Given the description of an element on the screen output the (x, y) to click on. 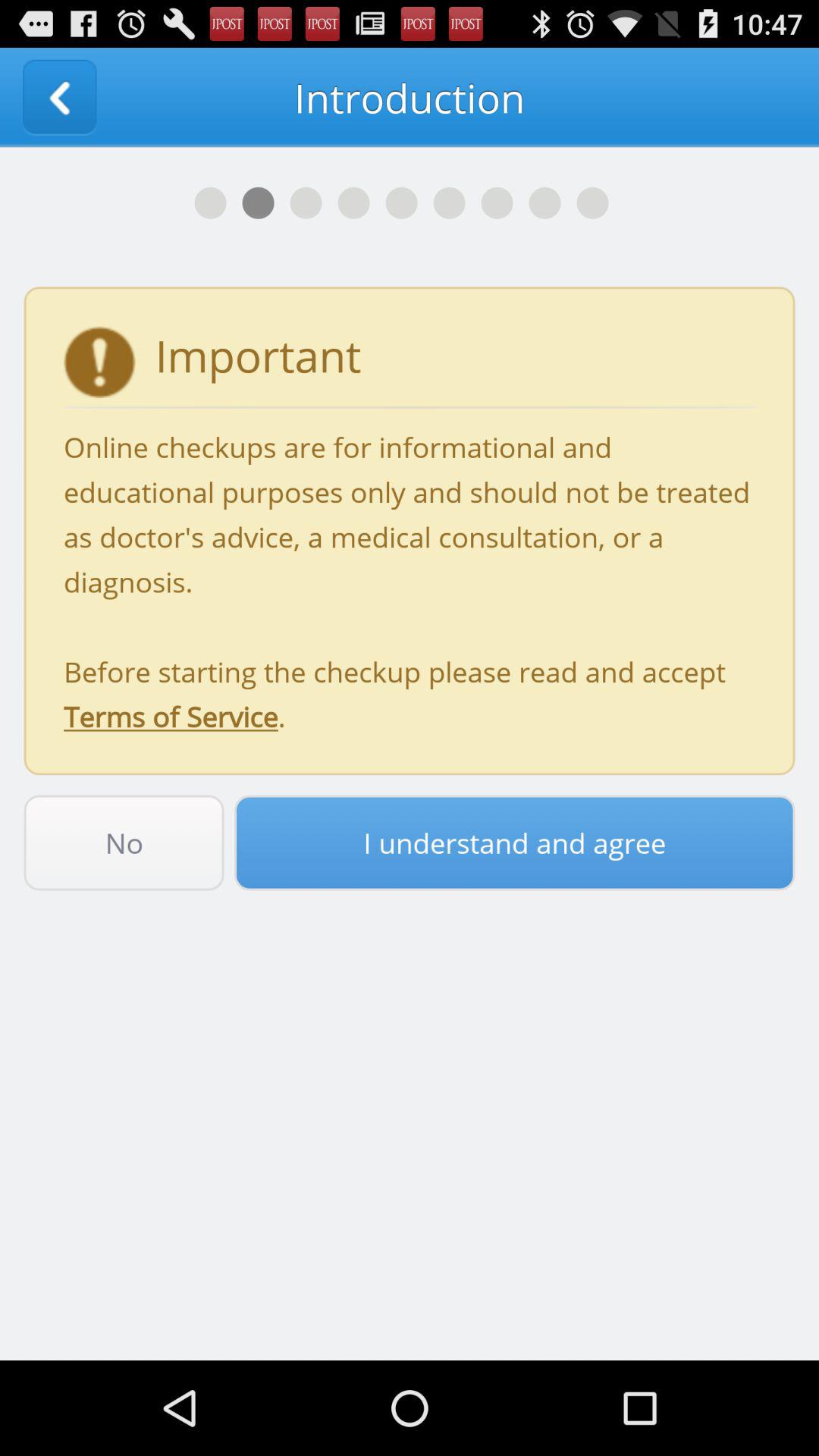
turn on the item next to the introduction app (59, 97)
